Given the description of an element on the screen output the (x, y) to click on. 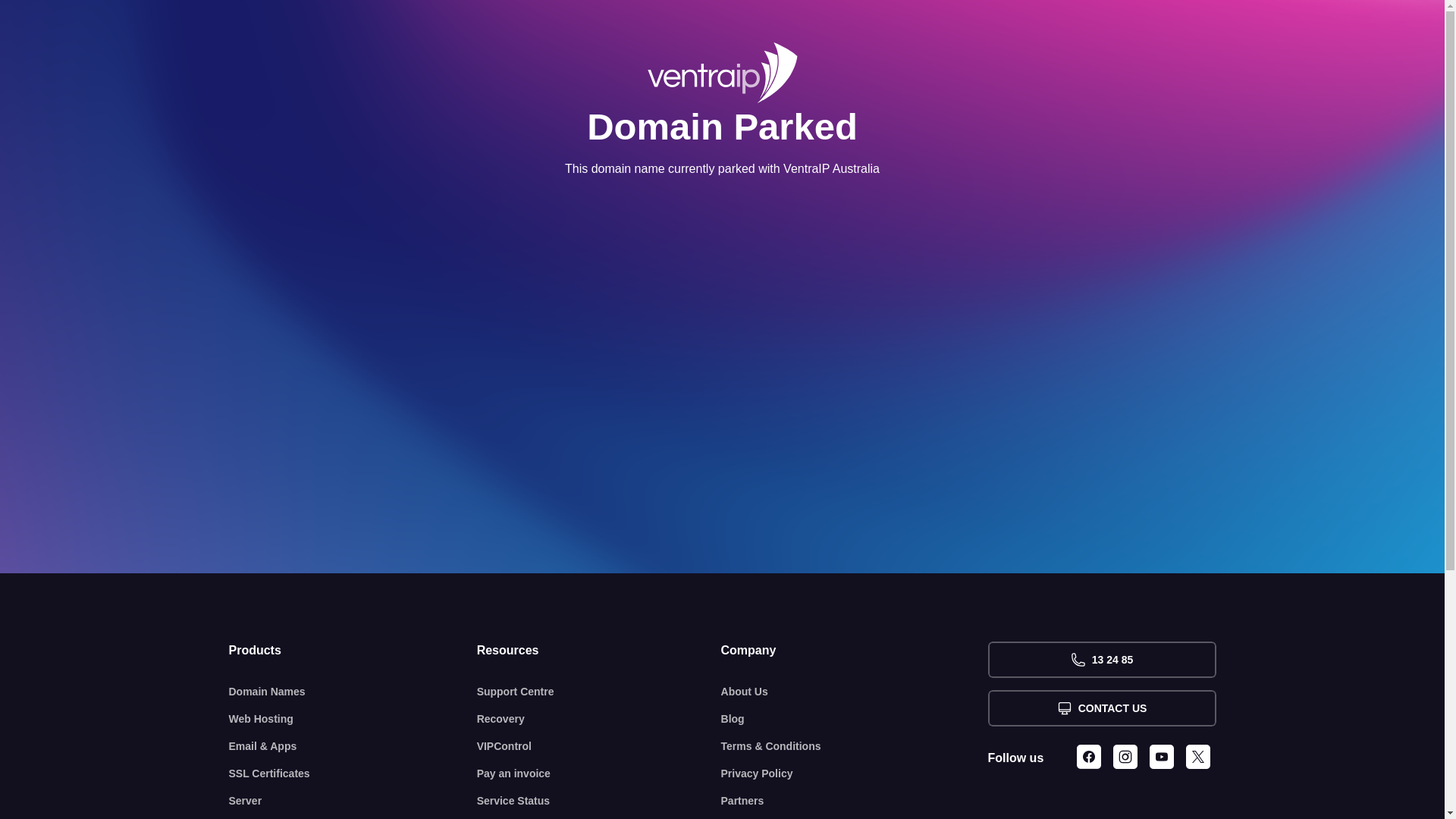
Server Element type: text (352, 800)
Terms & Conditions Element type: text (854, 745)
SSL Certificates Element type: text (352, 773)
Support Centre Element type: text (598, 691)
Pay an invoice Element type: text (598, 773)
Service Status Element type: text (598, 800)
Domain Names Element type: text (352, 691)
CONTACT US Element type: text (1101, 708)
Web Hosting Element type: text (352, 718)
Recovery Element type: text (598, 718)
13 24 85 Element type: text (1101, 659)
VIPControl Element type: text (598, 745)
Partners Element type: text (854, 800)
About Us Element type: text (854, 691)
Email & Apps Element type: text (352, 745)
Blog Element type: text (854, 718)
Privacy Policy Element type: text (854, 773)
